Given the description of an element on the screen output the (x, y) to click on. 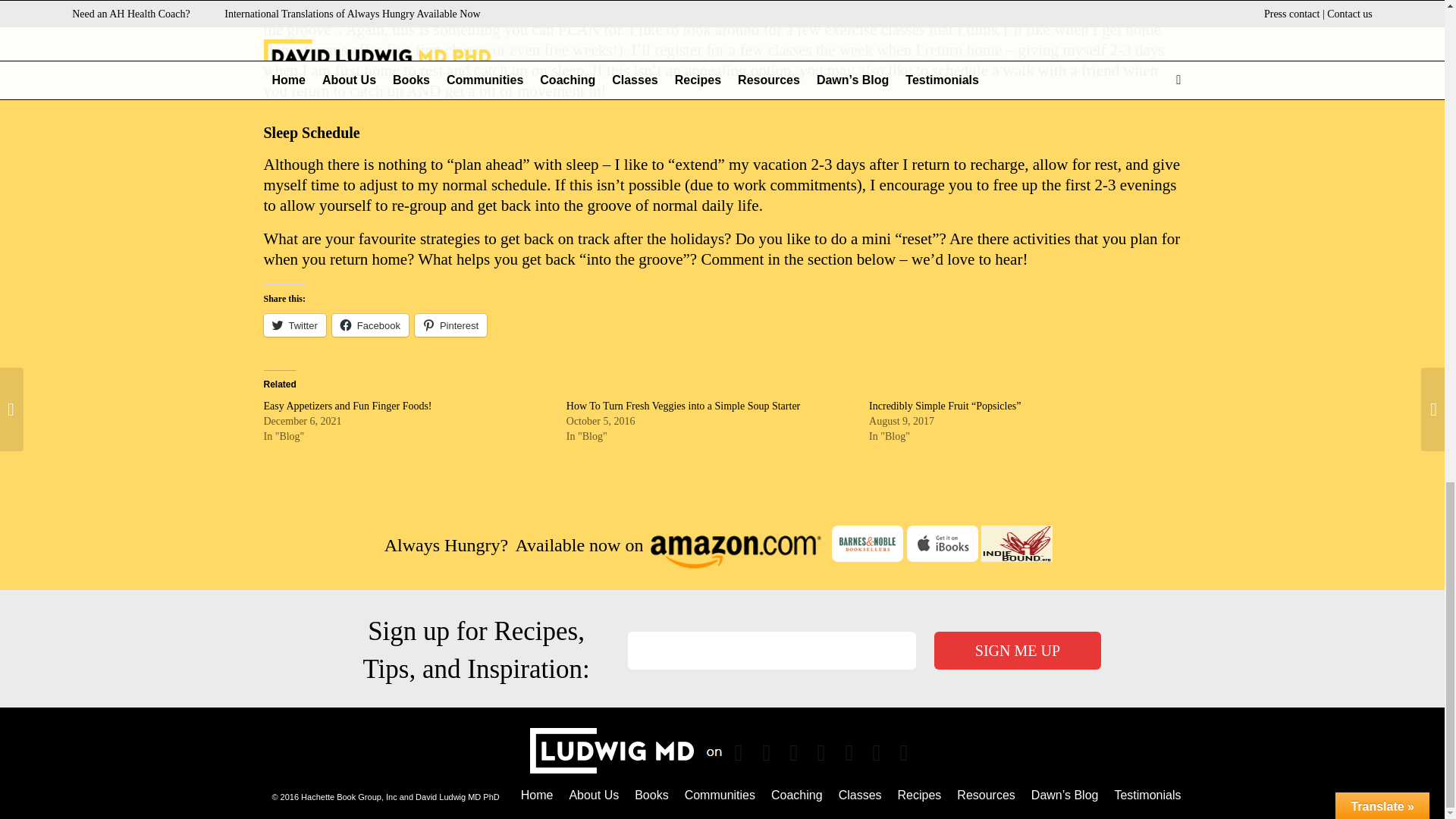
Click to share on Twitter (294, 324)
Easy Appetizers and Fun Finger Foods! (347, 405)
Click to share on Pinterest (450, 324)
How To Turn Fresh Veggies into a Simple Soup Starter (682, 405)
SIGN ME UP (1017, 650)
Click to share on Facebook (370, 324)
